Given the description of an element on the screen output the (x, y) to click on. 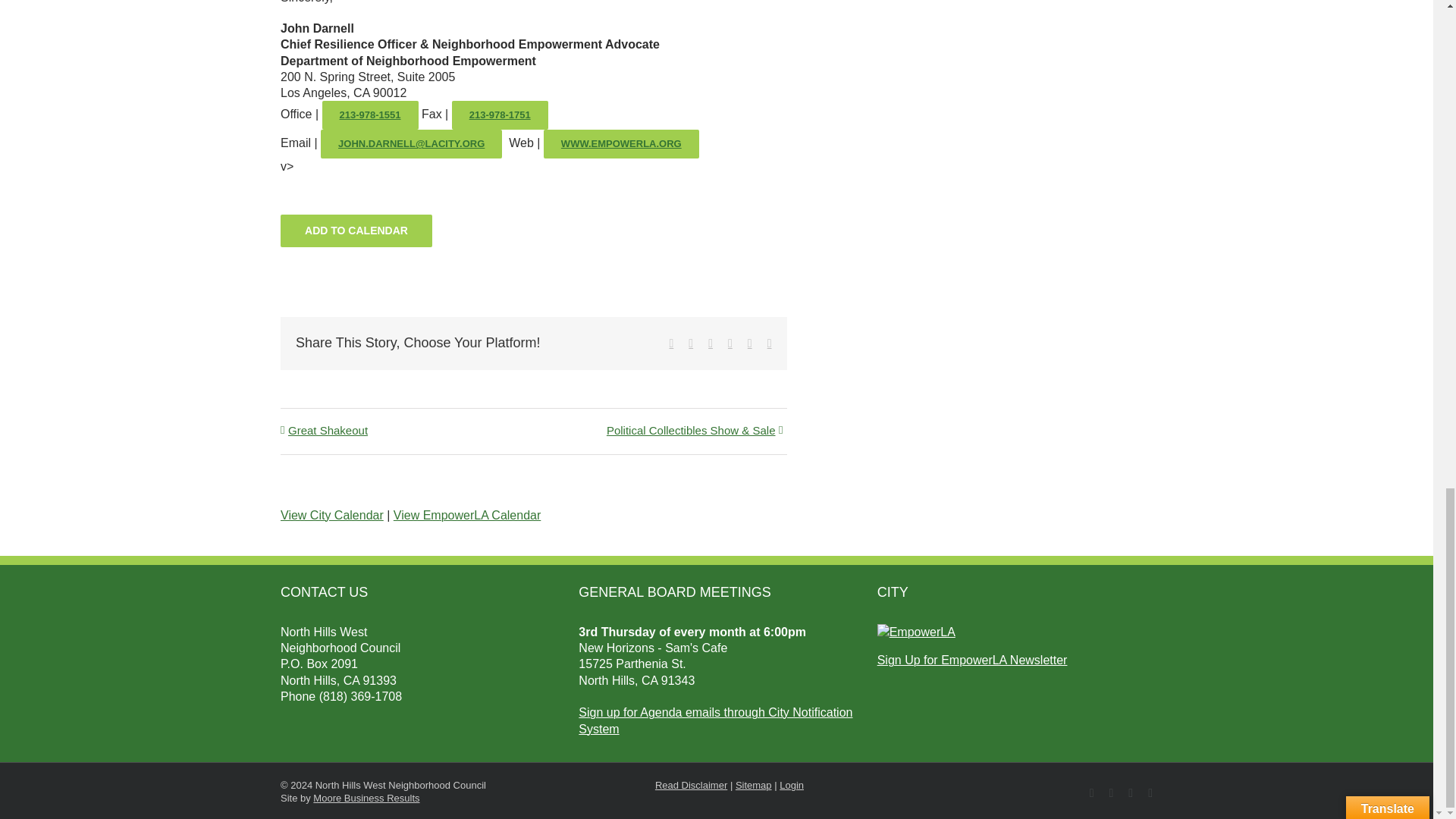
213-978-1751 (499, 114)
213-978-1551 (370, 114)
WWW.EMPOWERLA.ORG (620, 143)
ADD TO CALENDAR (355, 230)
